Given the description of an element on the screen output the (x, y) to click on. 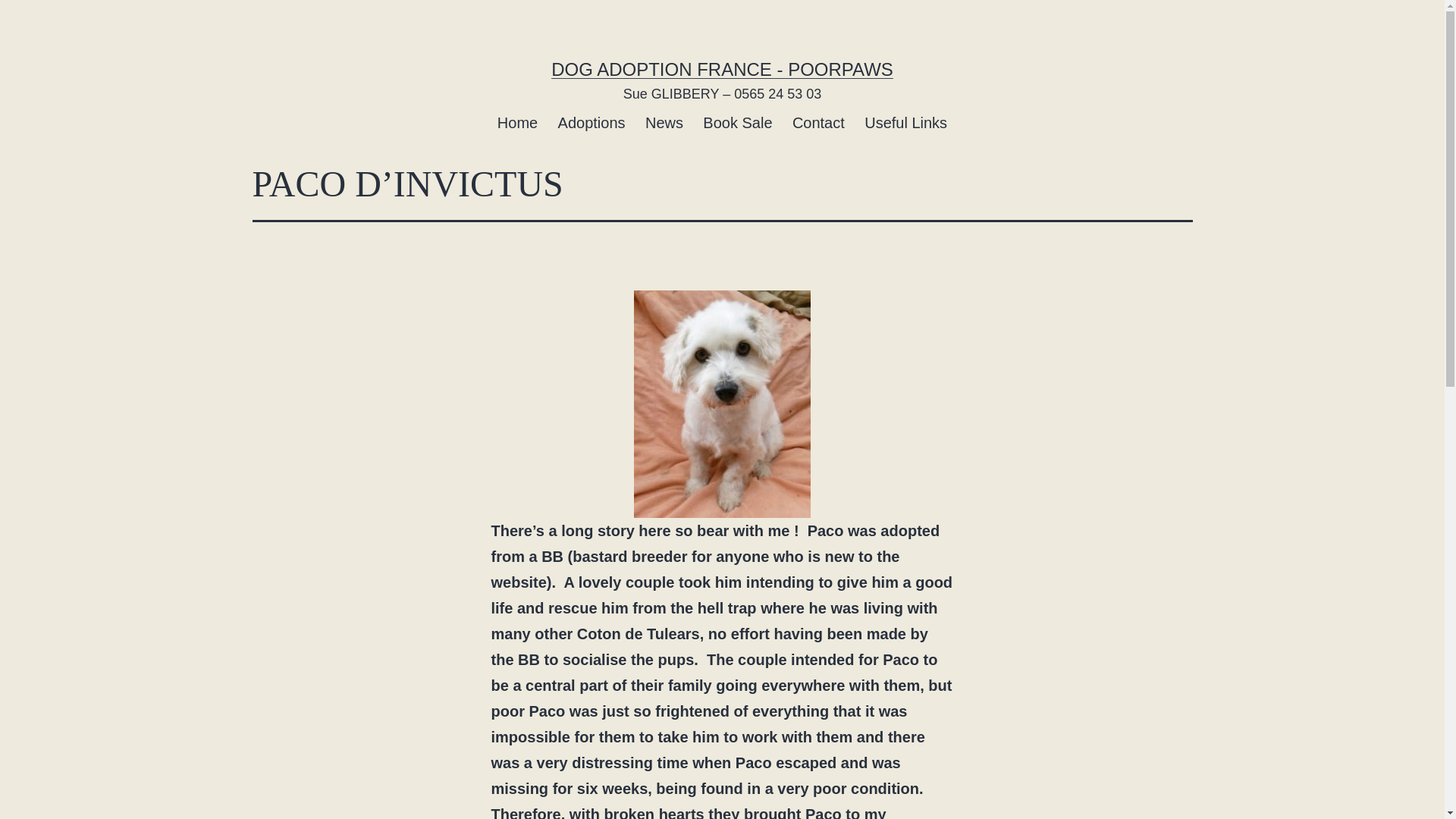
Book Sale (738, 122)
Home (517, 122)
Useful Links (905, 122)
DOG ADOPTION FRANCE - POORPAWS (722, 68)
Contact (818, 122)
Adoptions (590, 122)
News (663, 122)
